Given the description of an element on the screen output the (x, y) to click on. 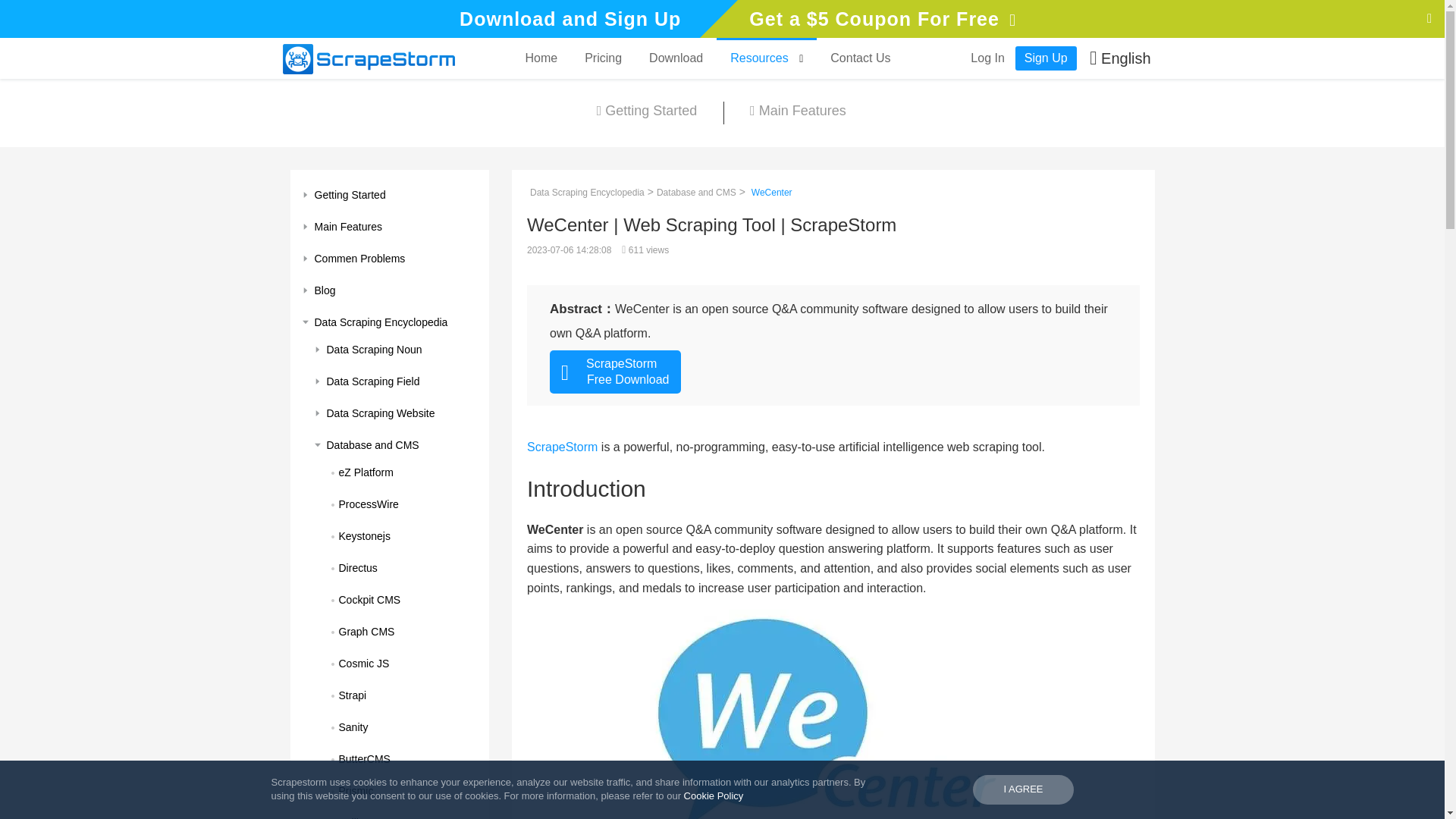
Sign Up (1045, 57)
Resources (766, 58)
Home (540, 57)
Getting Started (646, 112)
Getting Started (389, 194)
Main Features (796, 112)
Log In (986, 57)
Pricing (602, 57)
Contact Us (860, 57)
Main Features (389, 226)
Download (675, 57)
